Given the description of an element on the screen output the (x, y) to click on. 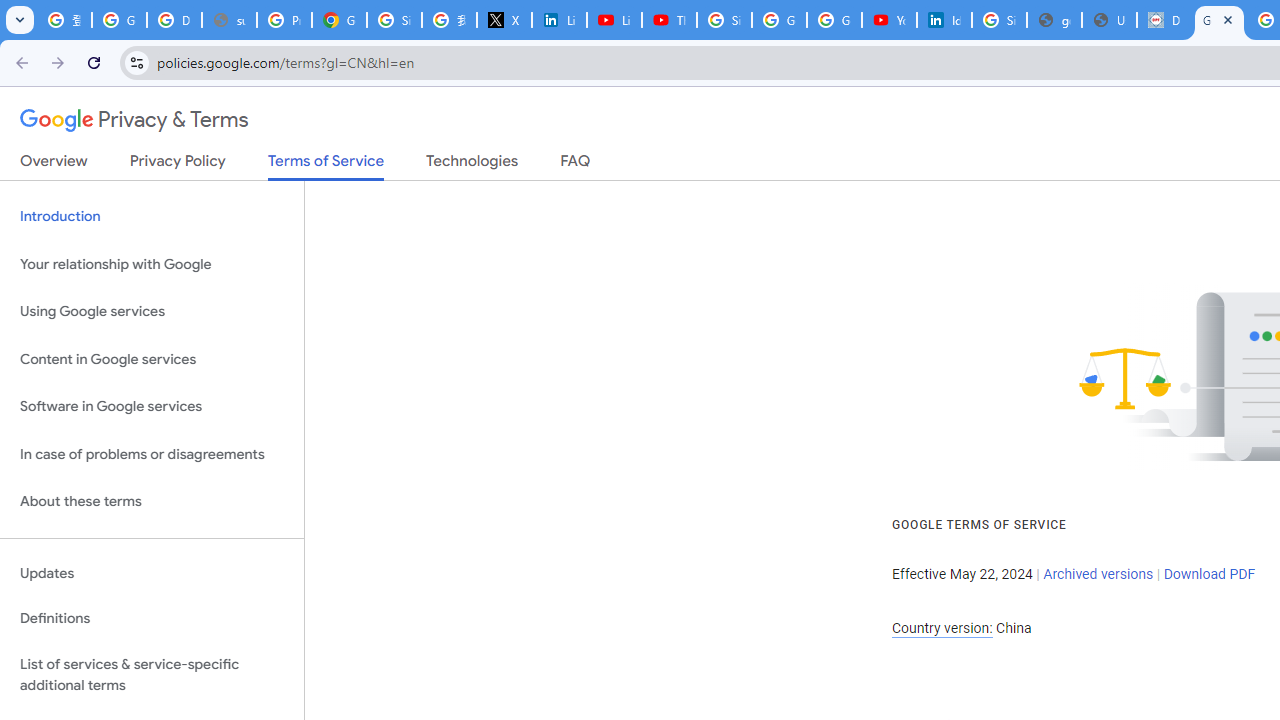
google_privacy_policy_en.pdf (1053, 20)
Your relationship with Google (152, 263)
LinkedIn - YouTube (614, 20)
Privacy Help Center - Policies Help (284, 20)
Sign in - Google Accounts (394, 20)
List of services & service-specific additional terms (152, 674)
User Details (1108, 20)
